Given the description of an element on the screen output the (x, y) to click on. 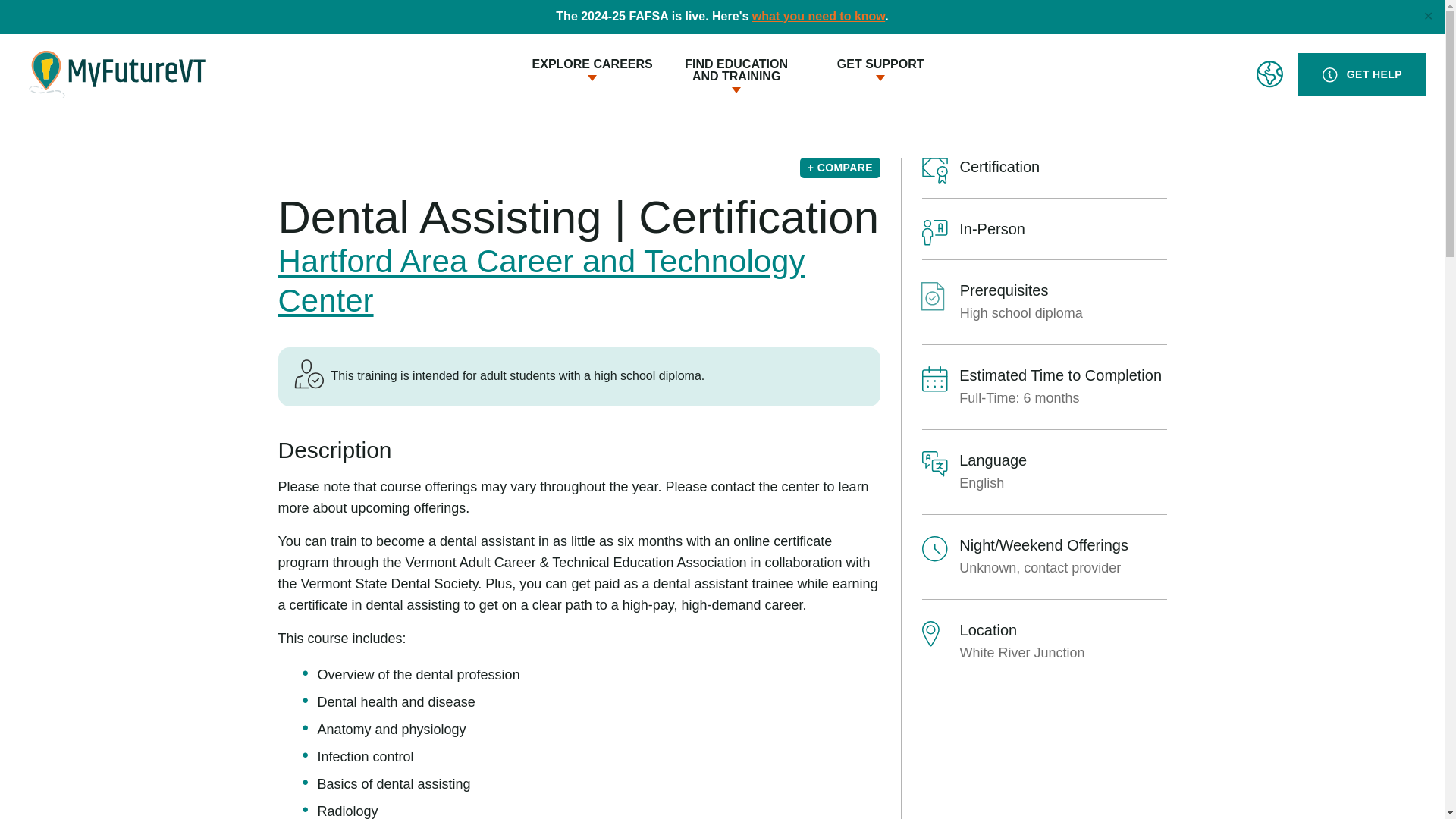
what you need to know (818, 15)
EXPLORE CAREERS (591, 63)
Diploma (934, 170)
HELP (1329, 74)
Hartford Area Career and Technology Center (541, 280)
MyFuture Vermont (116, 73)
Teacher at chalkboard (1362, 74)
FIND EDUCATION AND TRAINING (934, 232)
GET SUPPORT (735, 70)
